Given the description of an element on the screen output the (x, y) to click on. 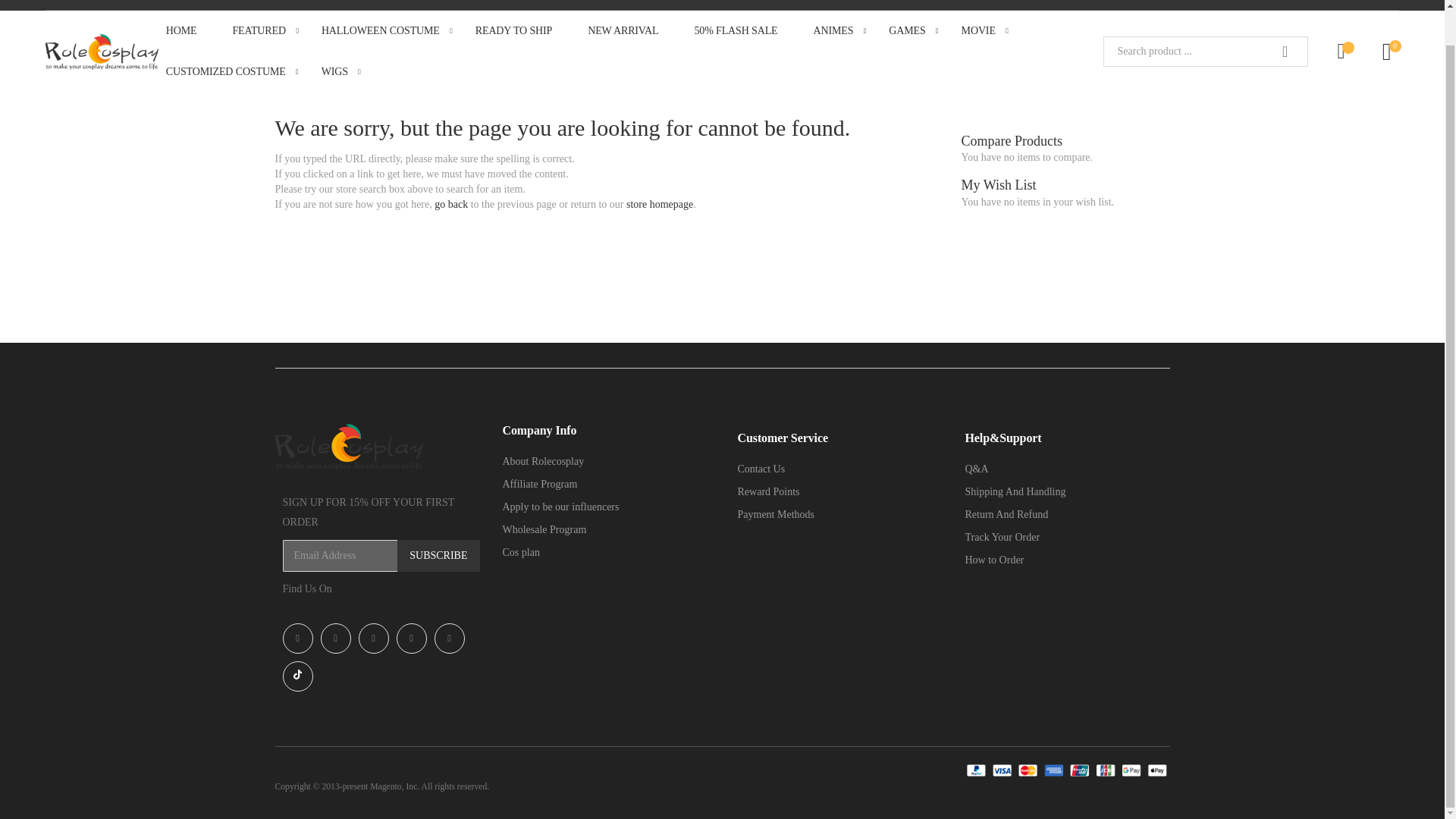
Instagram (335, 638)
CONTACT US (1238, 3)
FEATURED (268, 30)
Search (1284, 51)
NEW ARRIVAL (632, 30)
Twitter (448, 638)
READY TO SHIP (523, 30)
Youtube (373, 638)
Pinterest (411, 638)
ACCOUNT (1359, 4)
